Given the description of an element on the screen output the (x, y) to click on. 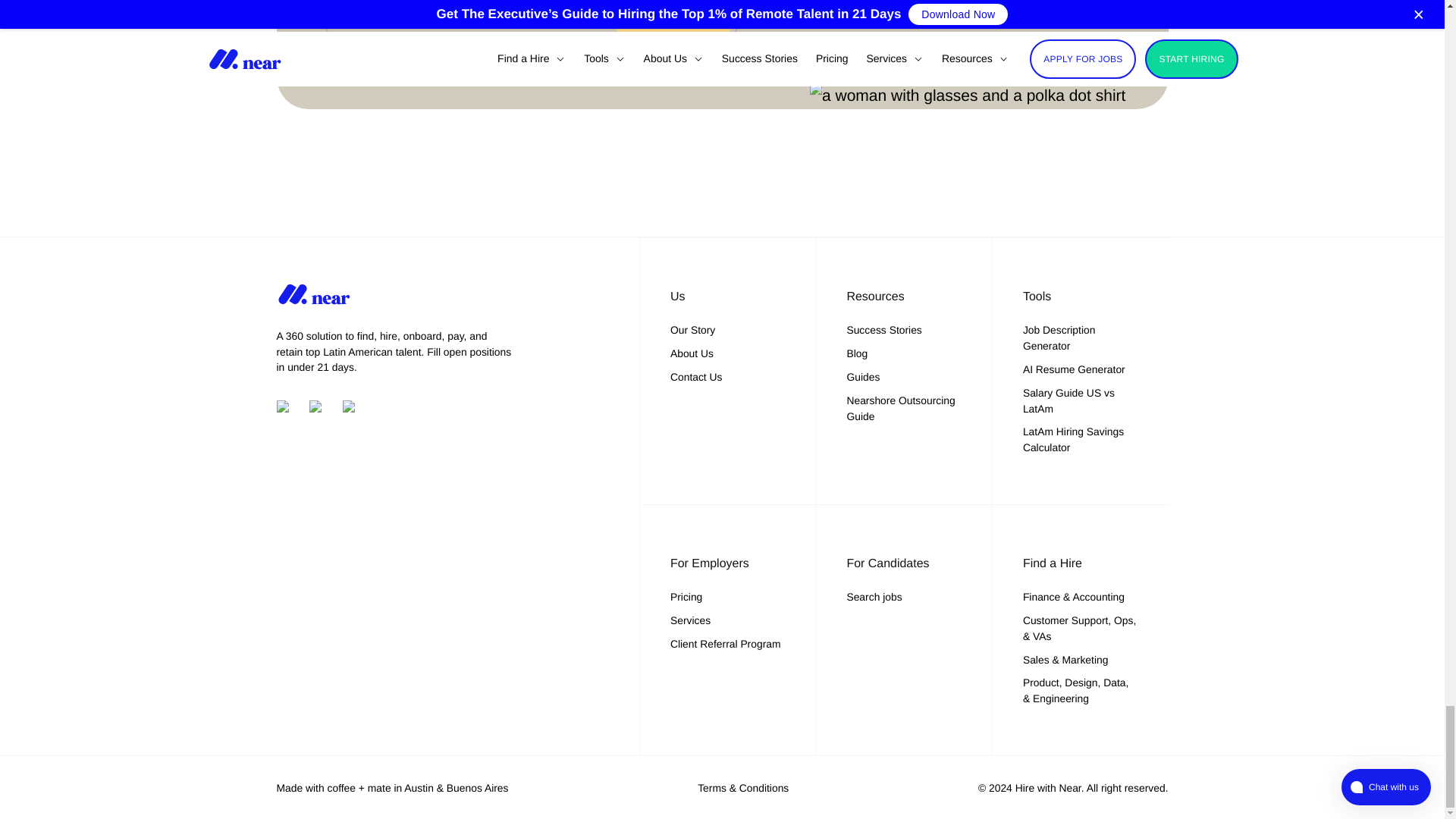
Free download (673, 21)
